Given the description of an element on the screen output the (x, y) to click on. 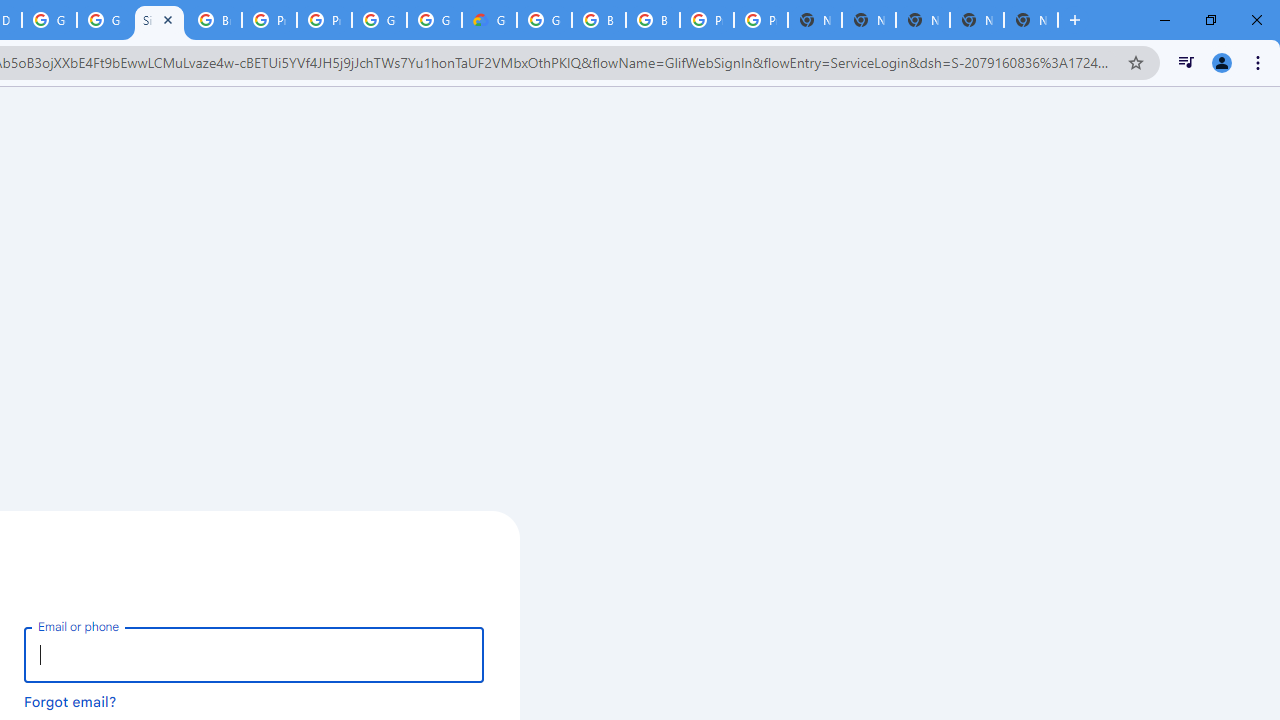
Google Cloud Platform (434, 20)
Forgot email? (70, 701)
